Given the description of an element on the screen output the (x, y) to click on. 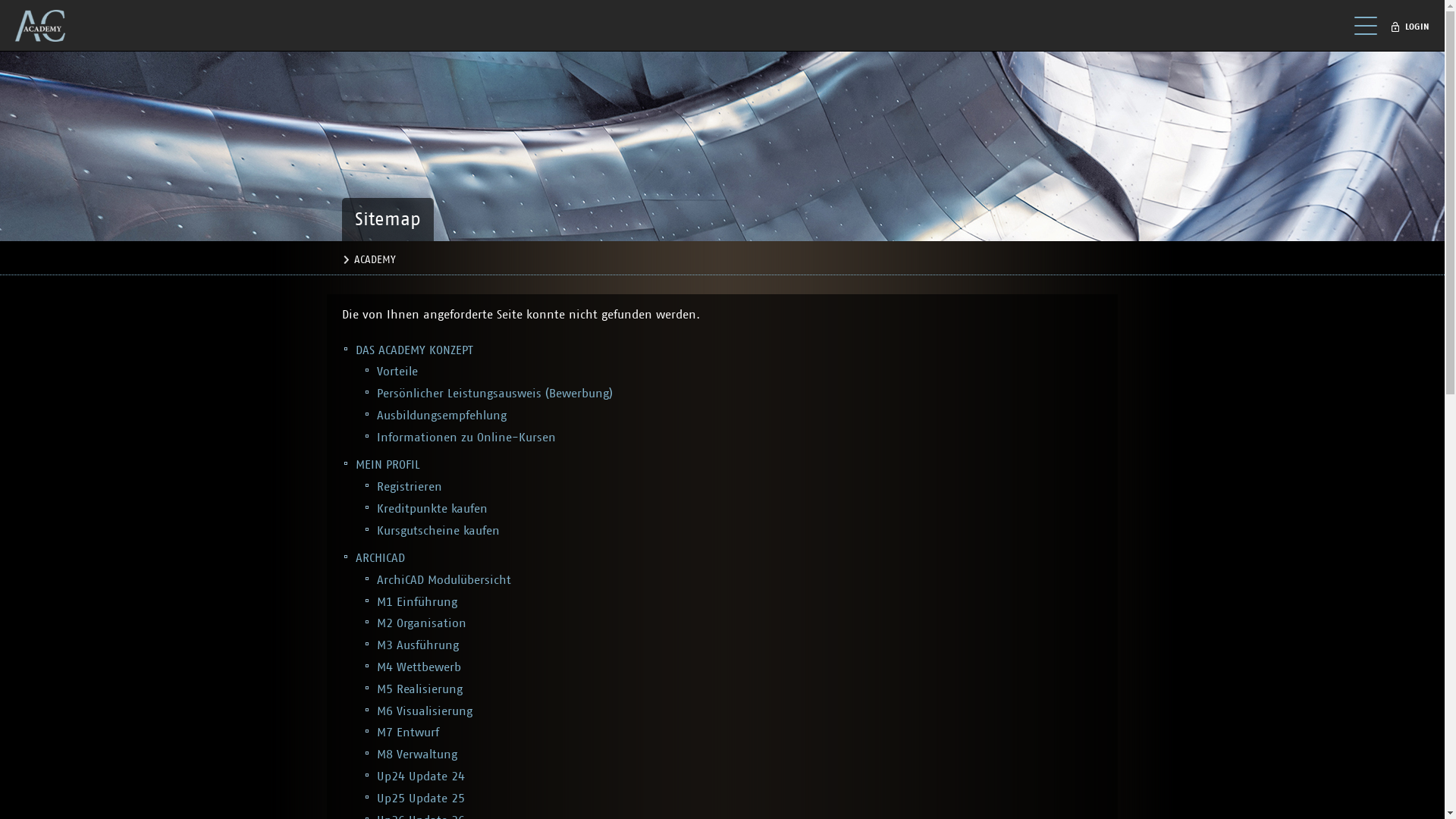
Registrieren Element type: text (409, 486)
Informationen zu Online-Kursen Element type: text (465, 437)
M8 Verwaltung Element type: text (416, 754)
ACADEMY Element type: text (374, 259)
DAS ACADEMY KONZEPT Element type: text (414, 350)
M7 Entwurf Element type: text (407, 732)
MEIN PROFIL Element type: text (387, 464)
Up25 Update 25 Element type: text (420, 798)
M6 Visualisierung Element type: text (424, 711)
Vorteile Element type: text (396, 371)
Up24 Update 24 Element type: text (420, 776)
LOGIN Element type: text (1413, 26)
ARCHICAD Element type: text (379, 557)
M2 Organisation Element type: text (421, 623)
Ausbildungsempfehlung Element type: text (441, 415)
M5 Realisierung Element type: text (419, 689)
IDC - Nicht gefunden Element type: text (45, 25)
M4 Wettbewerb Element type: text (418, 667)
Kursgutscheine kaufen Element type: text (437, 530)
Kreditpunkte kaufen Element type: text (431, 508)
